Given the description of an element on the screen output the (x, y) to click on. 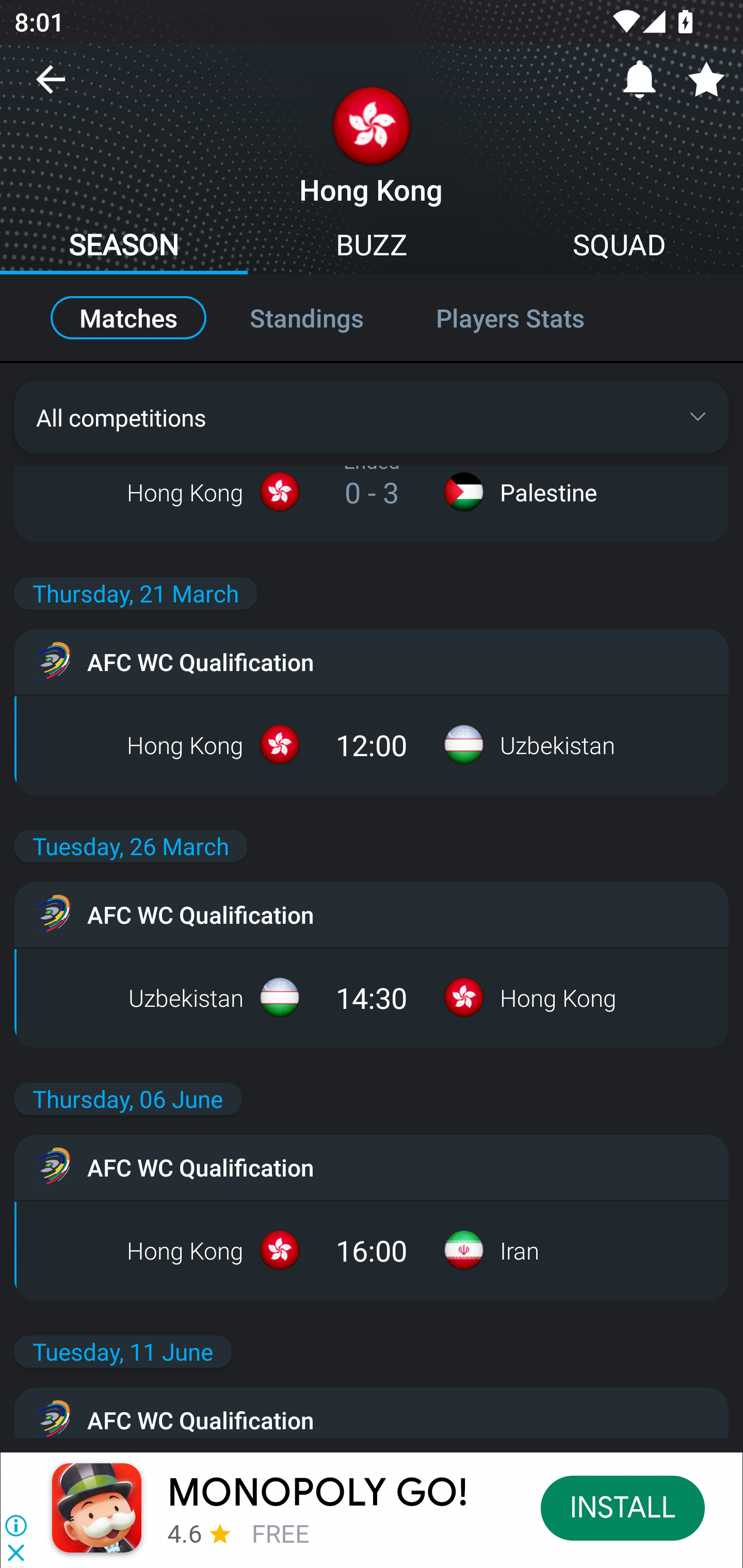
Navigate up (50, 86)
SEASON (123, 246)
BUZZ (371, 246)
SQUAD (619, 246)
Standings (306, 317)
Players Stats (531, 317)
All competitions (371, 417)
Hong Kong Ended 0 - 3 Palestine (371, 492)
AFC WC Qualification (371, 661)
Hong Kong 12:00 Uzbekistan (371, 744)
AFC WC Qualification (371, 914)
Uzbekistan 14:30 Hong Kong (371, 997)
AFC WC Qualification (371, 1167)
Hong Kong 16:00 Iran (371, 1250)
AFC WC Qualification (371, 1412)
MONOPOLY GO! (318, 1493)
INSTALL (623, 1507)
